Given the description of an element on the screen output the (x, y) to click on. 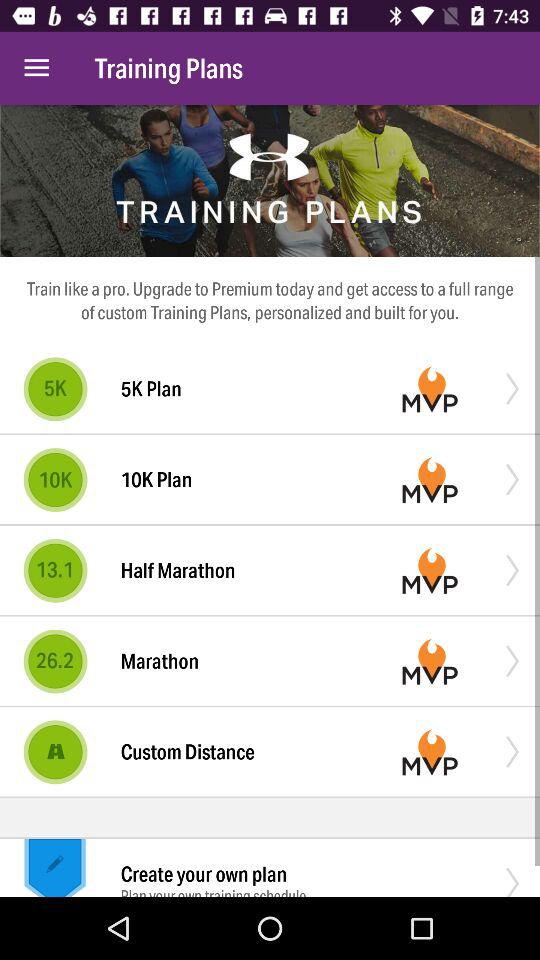
launch the item next to training plans (36, 68)
